Given the description of an element on the screen output the (x, y) to click on. 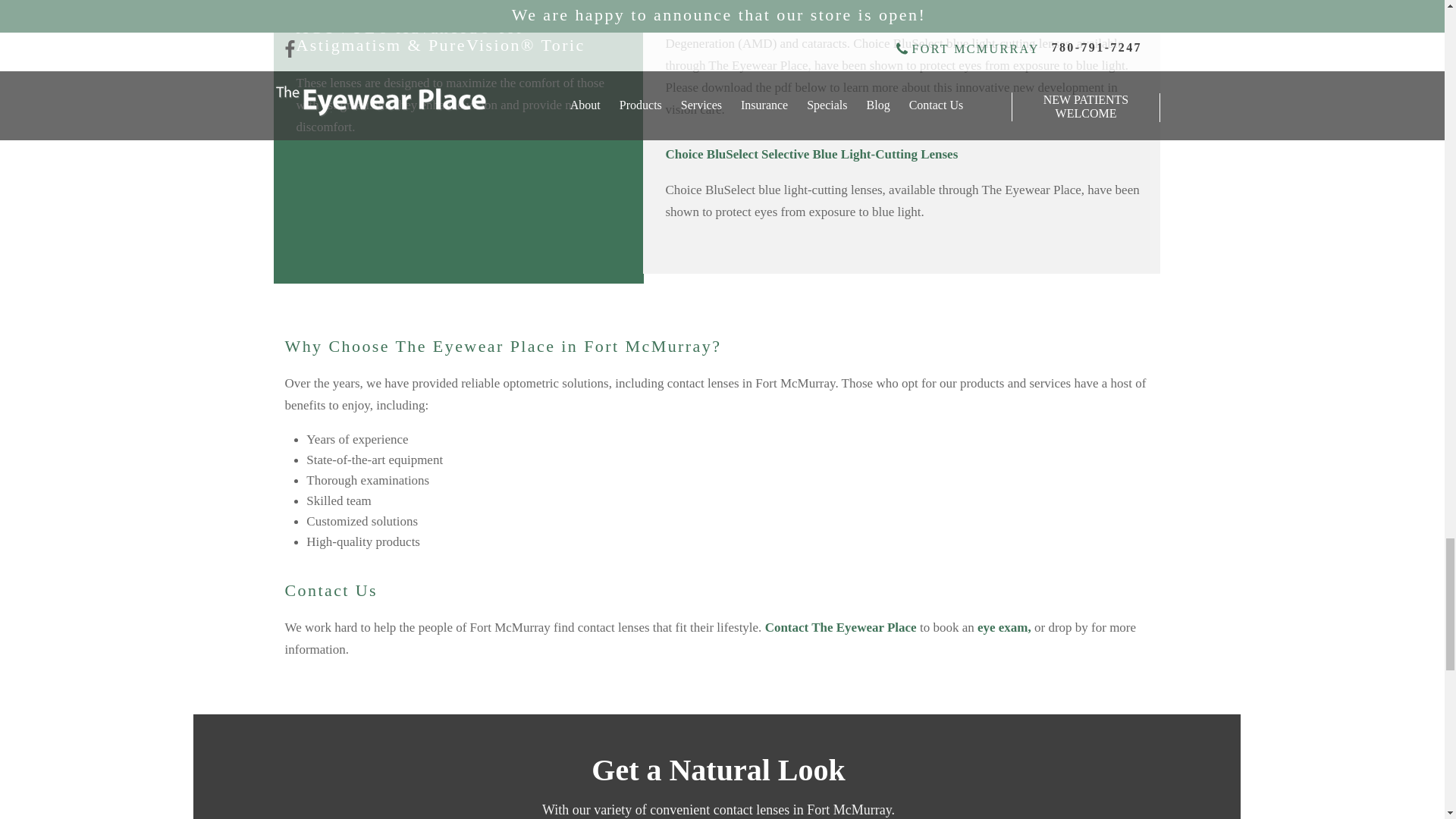
eye exam, (1003, 628)
Contact The Eyewear Place (841, 628)
Choice BluSelect Selective Blue Light-Cutting Lenses (811, 155)
